Given the description of an element on the screen output the (x, y) to click on. 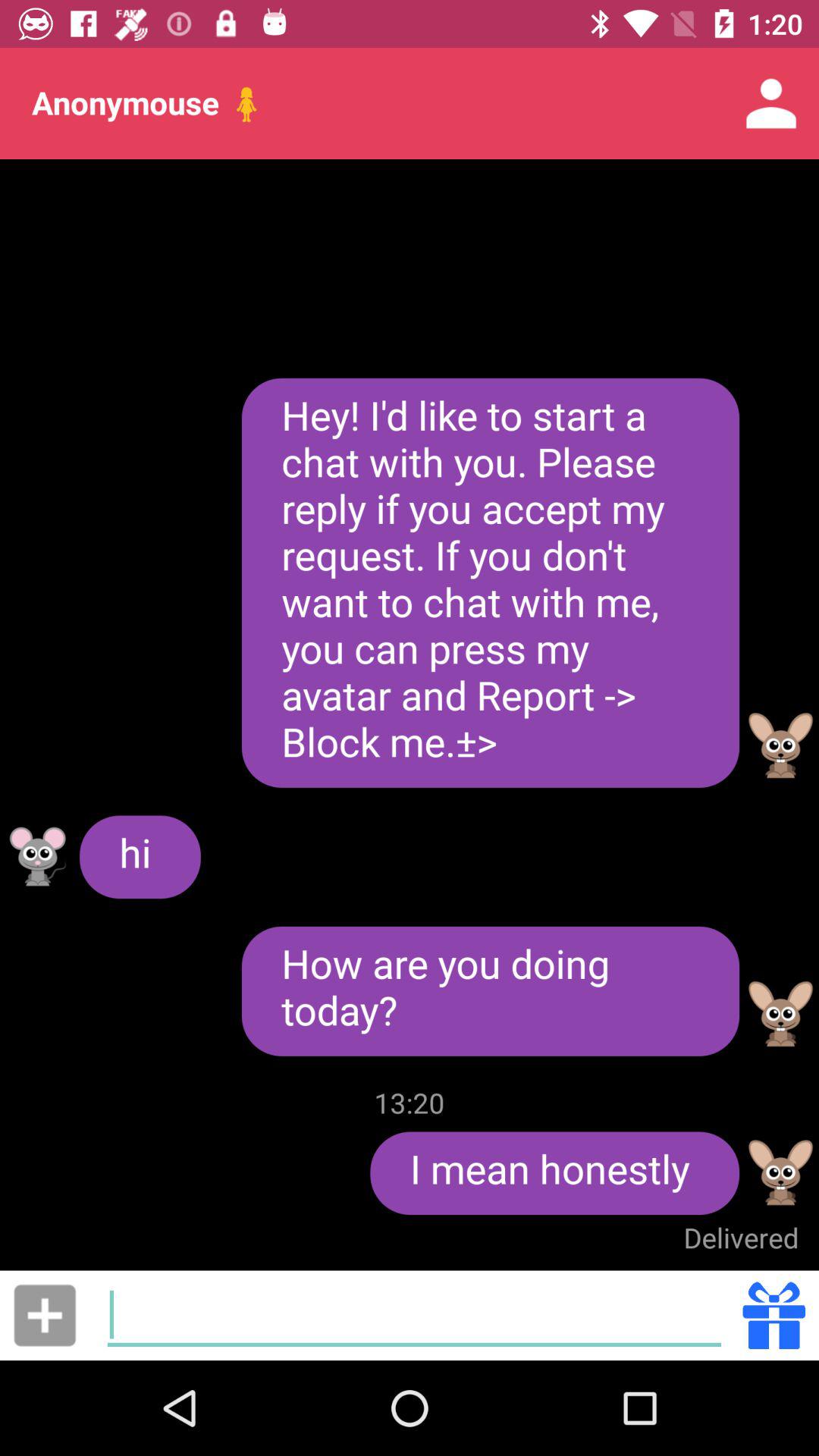
press the how are you (490, 991)
